Given the description of an element on the screen output the (x, y) to click on. 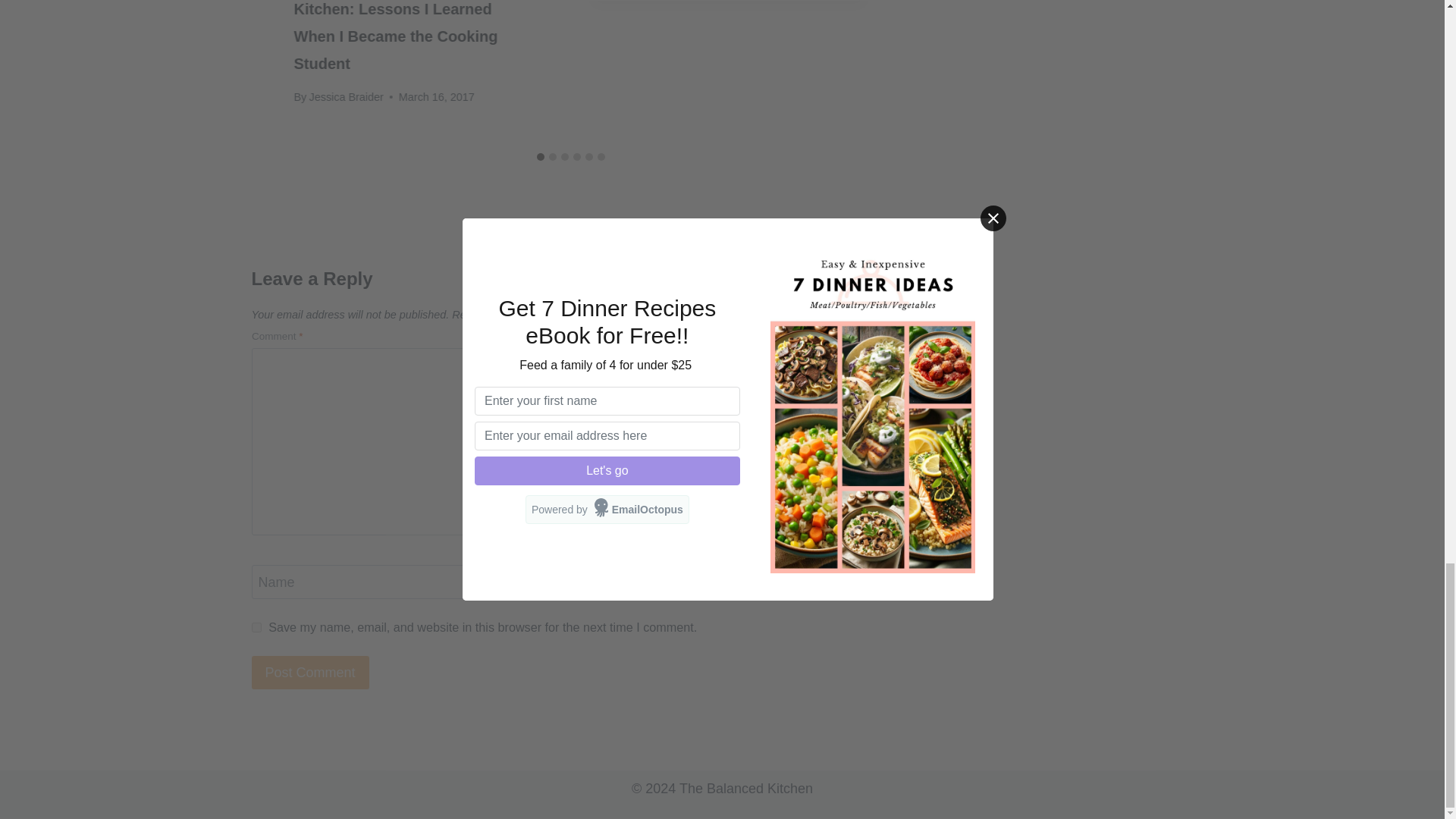
yes (256, 627)
Post Comment (310, 672)
